Given the description of an element on the screen output the (x, y) to click on. 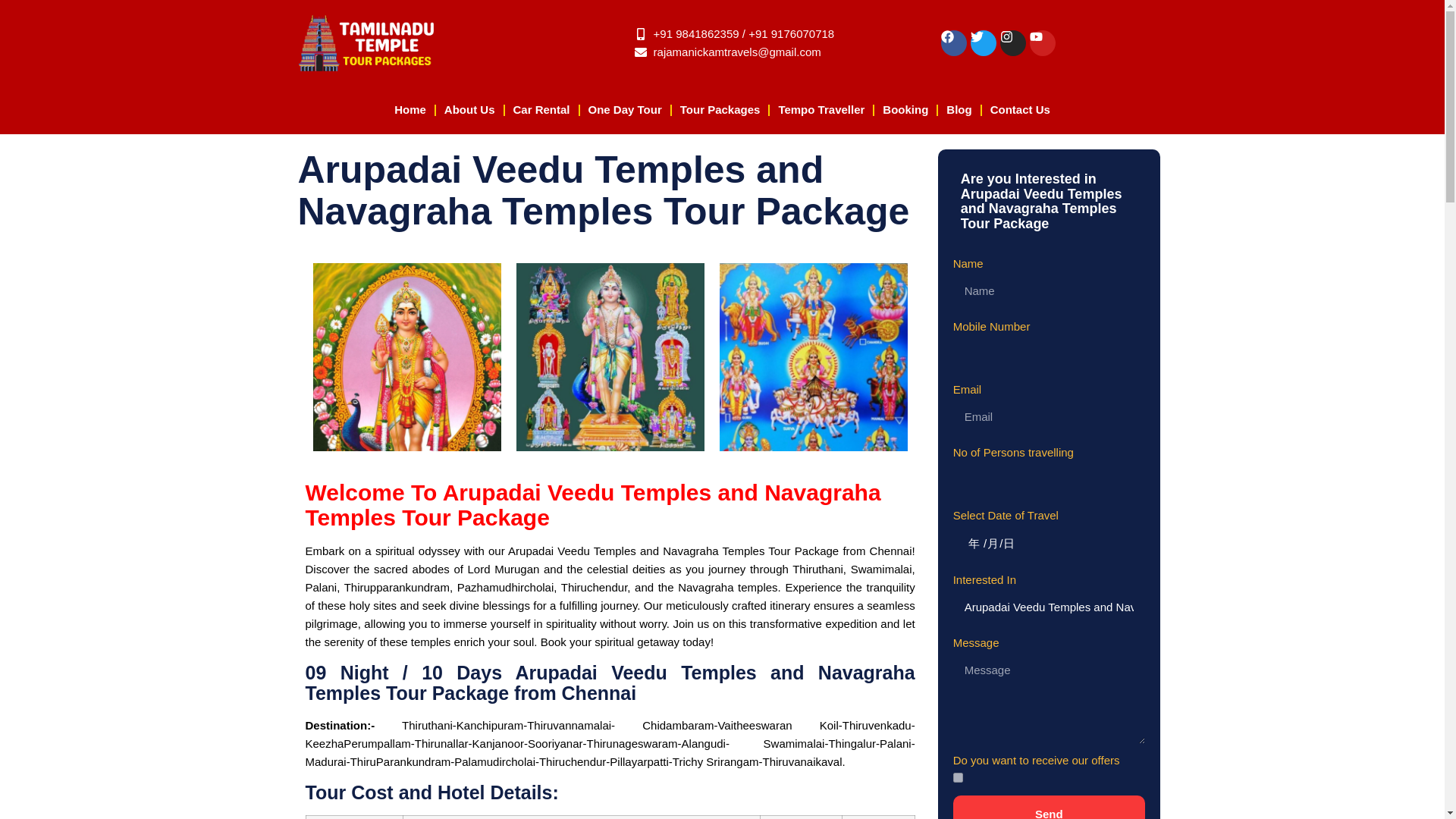
on (957, 777)
About Us (469, 110)
Tour Packages (720, 110)
Car Rental (540, 110)
Arupadai Veedu Temples and Navagraha Temples Tour Package (1048, 607)
One Day Tour (625, 110)
Home (410, 110)
